Given the description of an element on the screen output the (x, y) to click on. 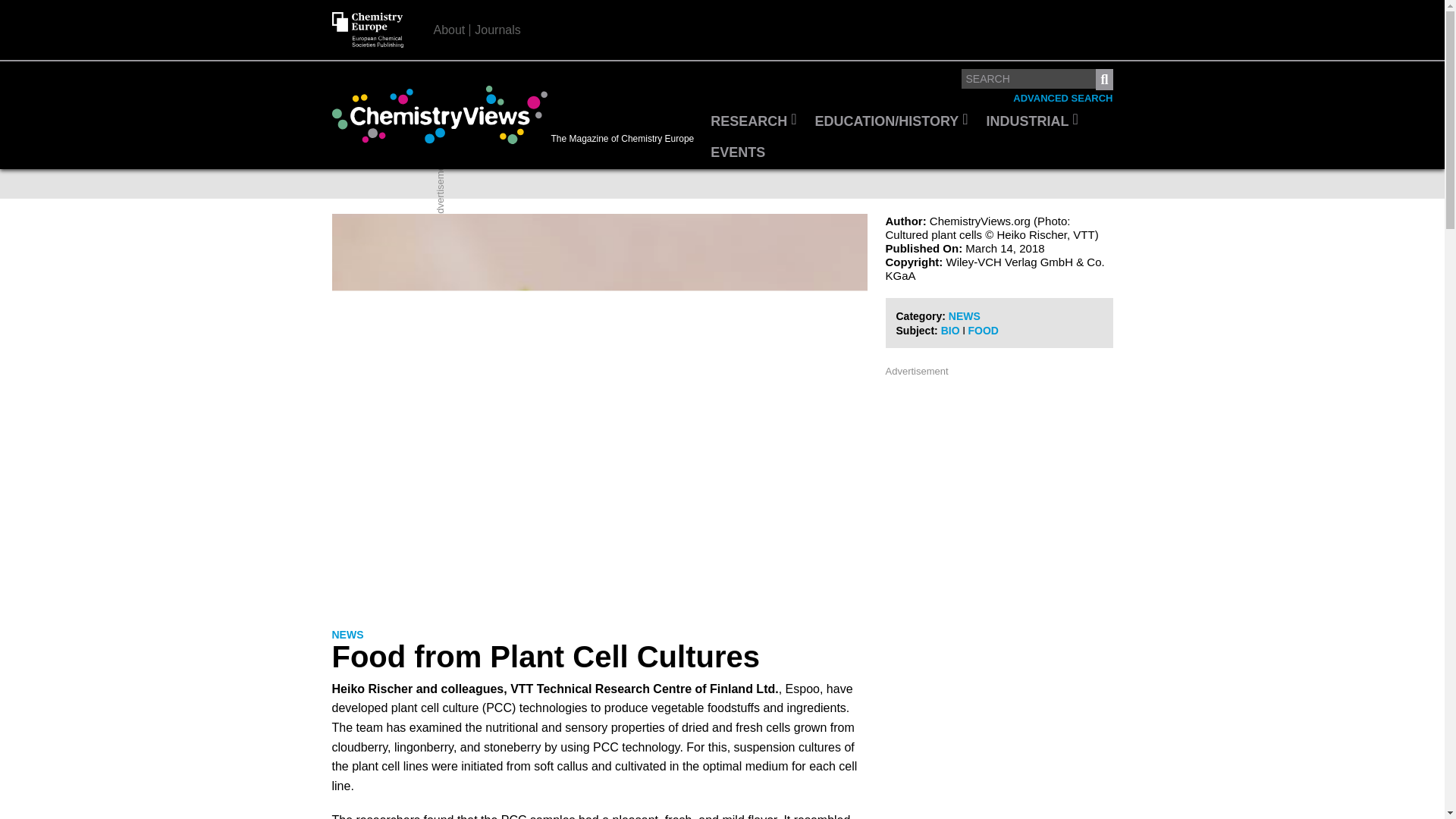
ADVANCED SEARCH (1062, 98)
About (449, 29)
Journals (496, 29)
The Magazine of Chemistry Europe (516, 114)
EVENTS (737, 152)
INDUSTRIAL (1031, 122)
NEWS (347, 634)
RESEARCH (753, 122)
